Given the description of an element on the screen output the (x, y) to click on. 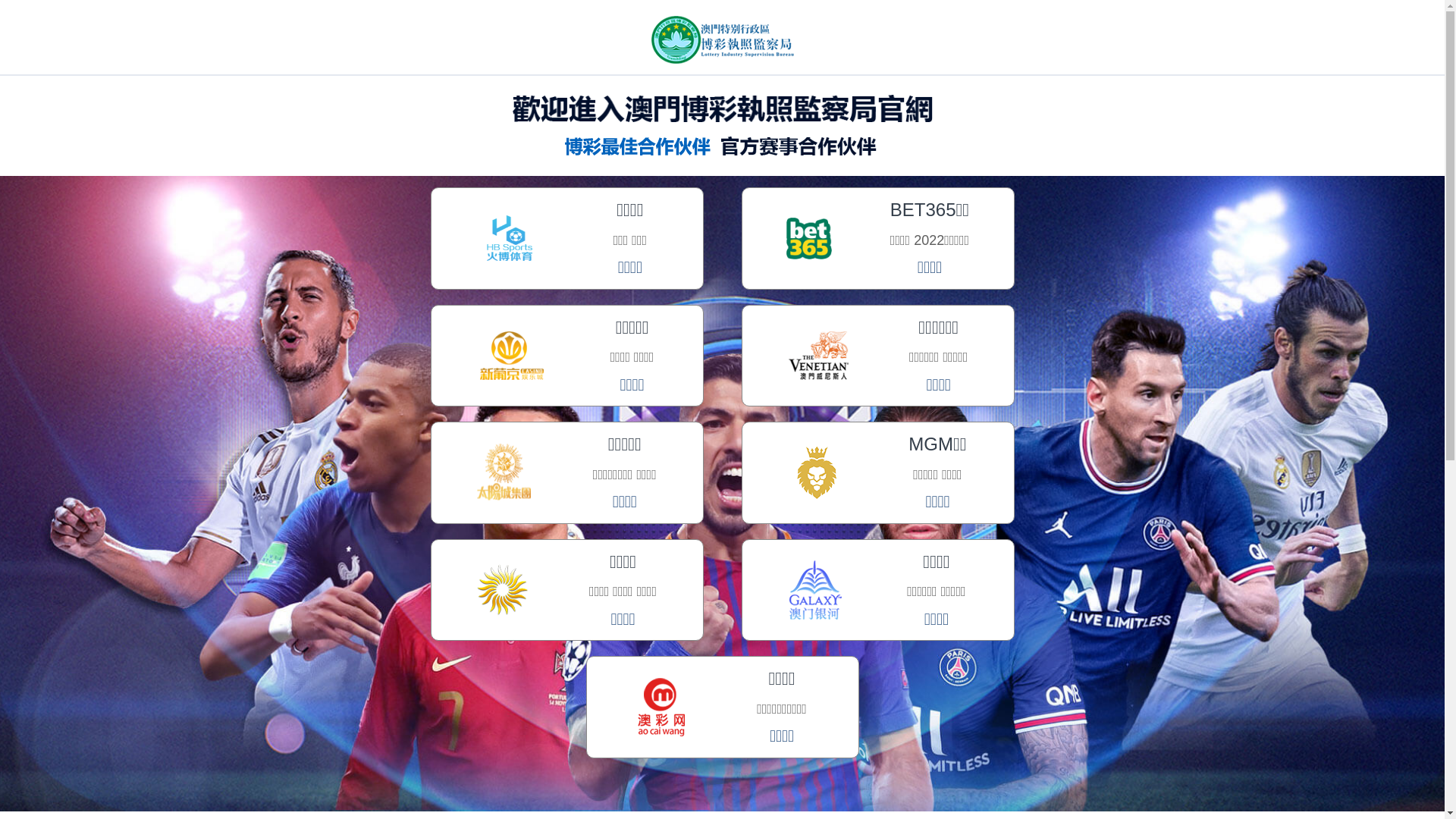
Search Element type: text (194, 758)
